Given the description of an element on the screen output the (x, y) to click on. 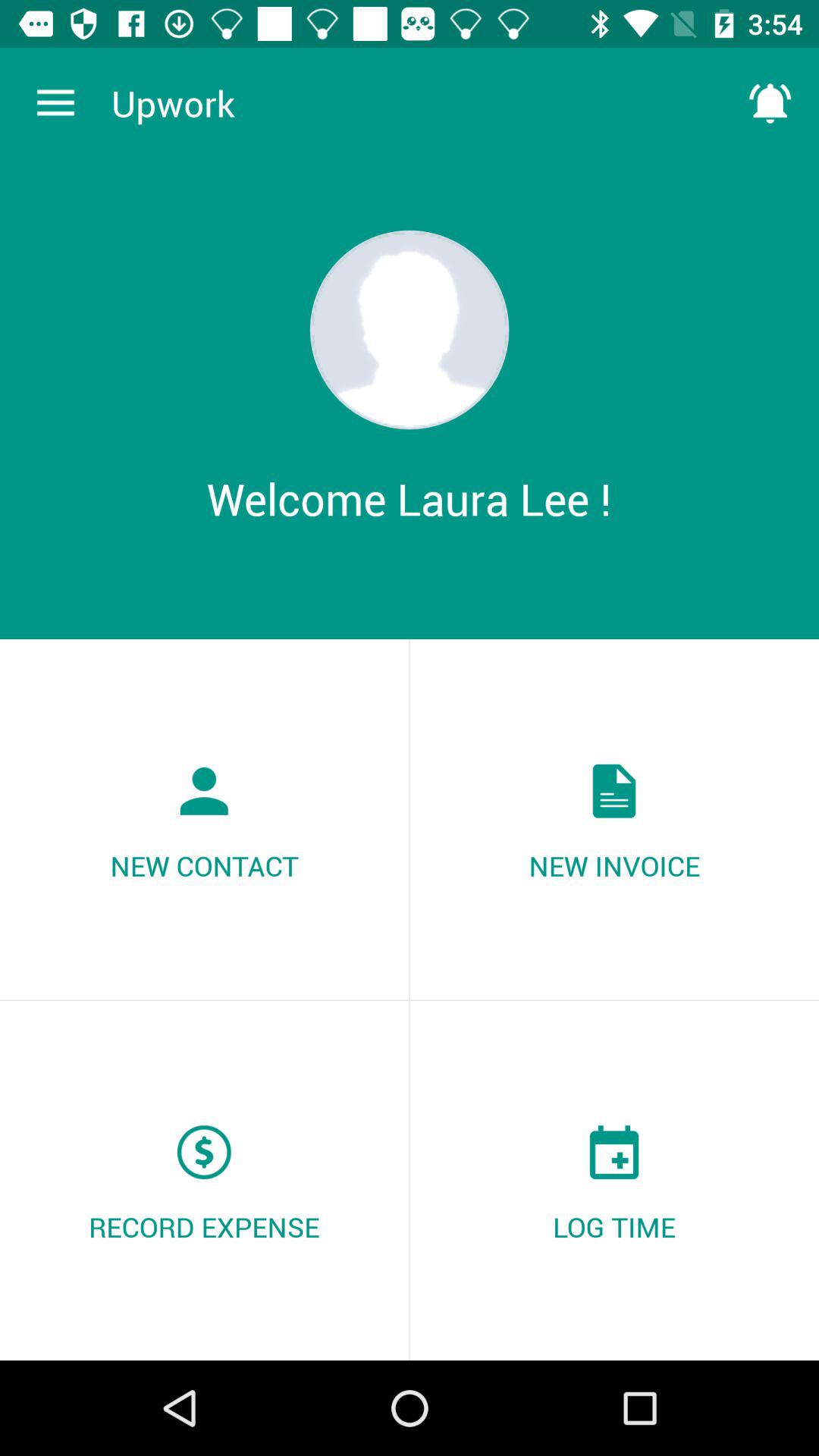
launch icon above the welcome laura lee ! item (409, 329)
